Given the description of an element on the screen output the (x, y) to click on. 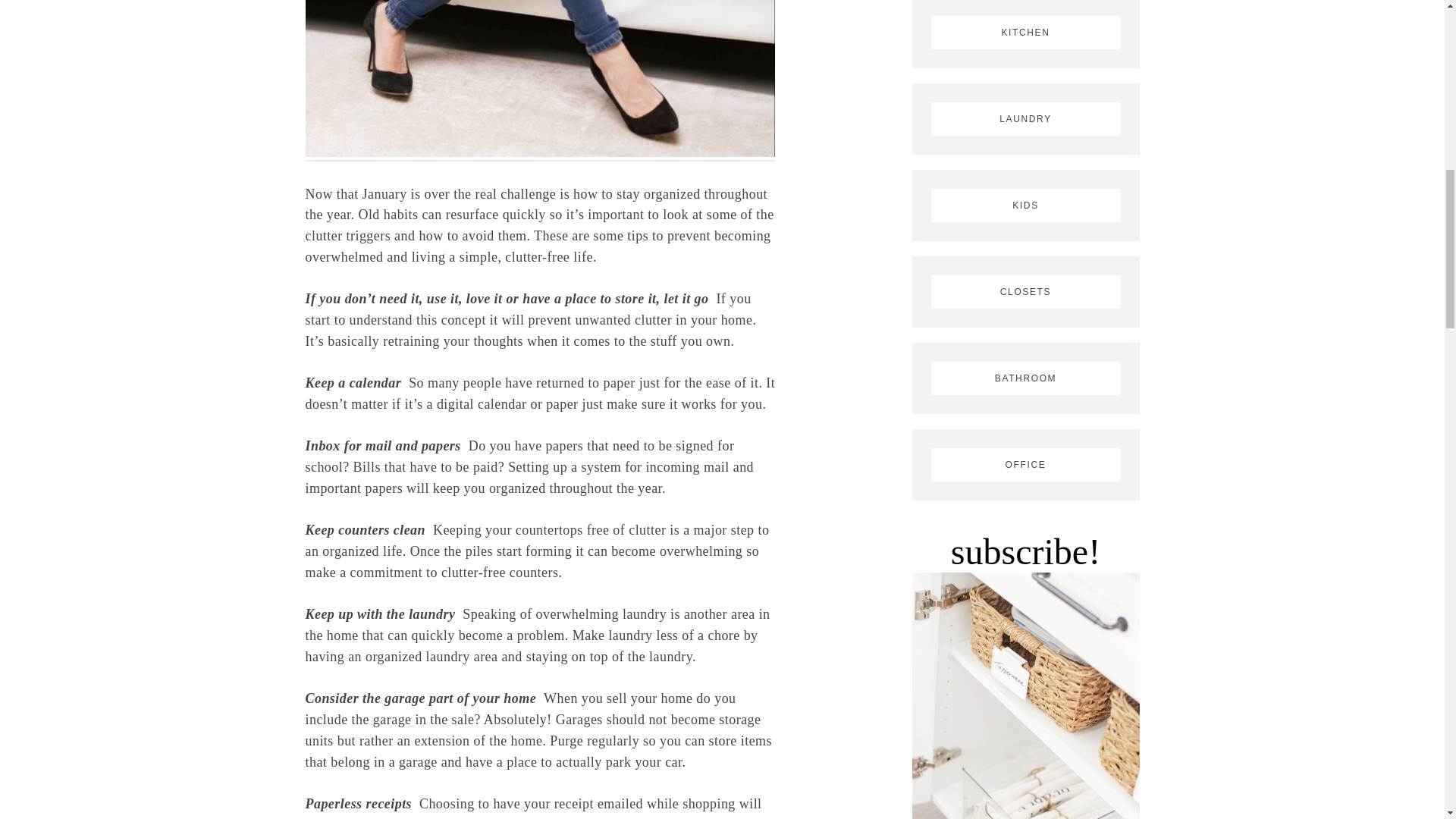
KITCHEN (1026, 33)
CLOSETS (1026, 291)
KIDS (1026, 204)
OFFICE (1026, 464)
BATHROOM (1026, 378)
LAUNDRY (1026, 118)
